Given the description of an element on the screen output the (x, y) to click on. 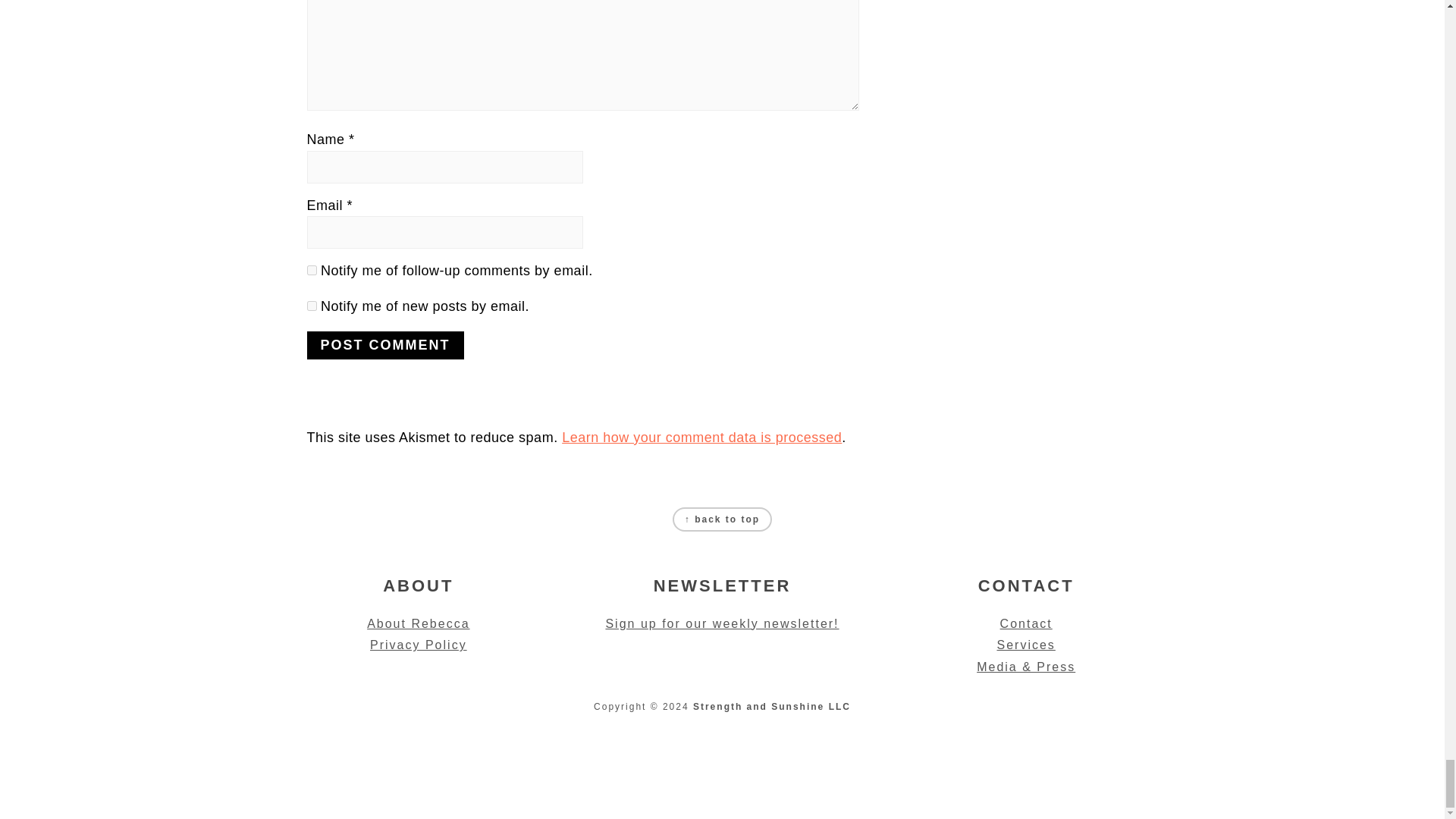
subscribe (310, 306)
Post Comment (384, 345)
subscribe (310, 270)
